Given the description of an element on the screen output the (x, y) to click on. 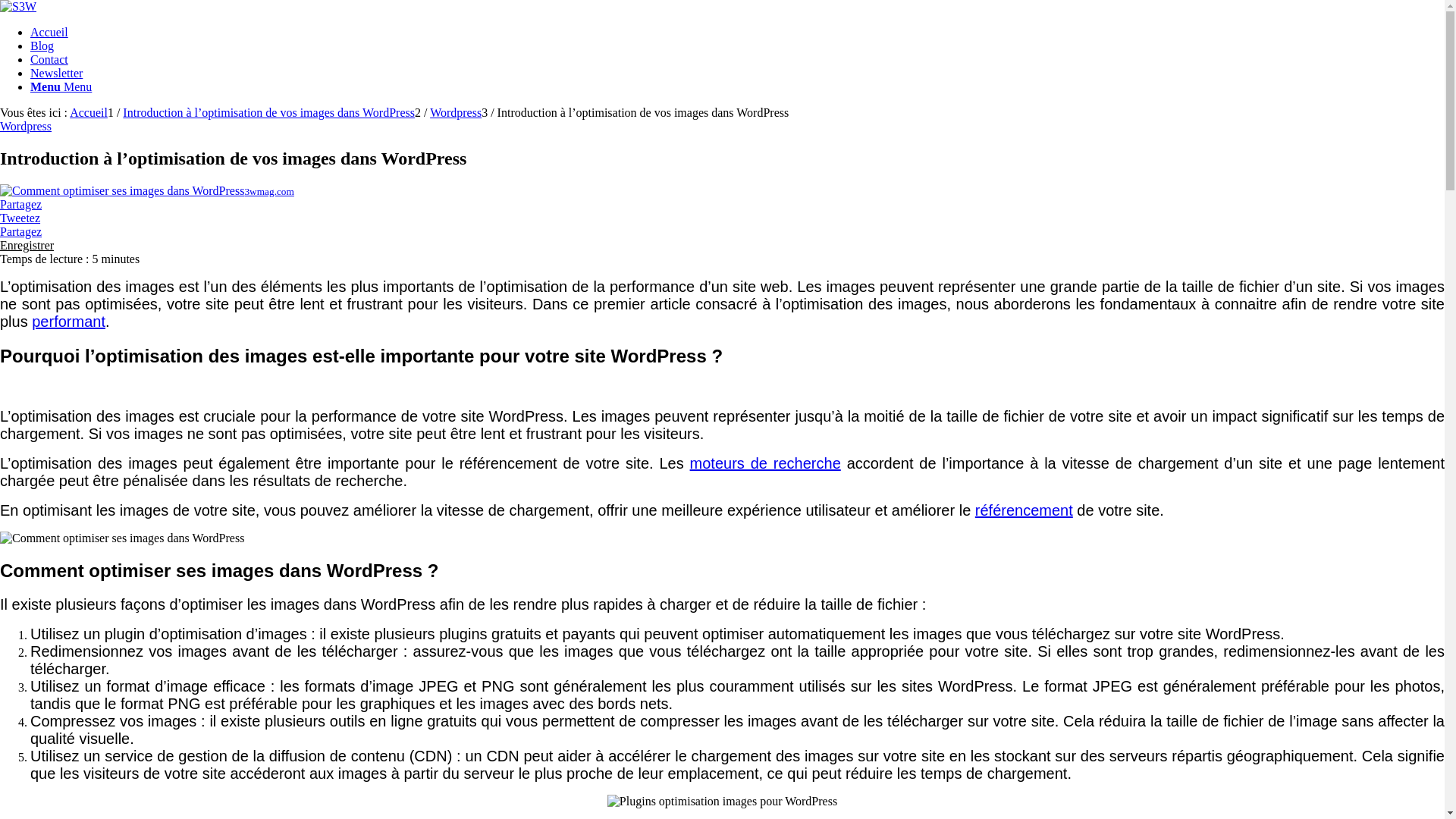
s3w Element type: hover (18, 6)
performant Element type: text (68, 321)
Enregistrer Element type: text (26, 244)
Contact Element type: text (49, 59)
Accueil Element type: text (49, 31)
Blog Element type: text (41, 45)
Partagez Element type: text (20, 231)
moteurs de recherche Element type: text (765, 463)
Plugins d'optimisation de vos images pour WordPress Element type: hover (722, 801)
Menu Menu Element type: text (60, 86)
Newsletter Element type: text (56, 72)
Partagez Element type: text (20, 203)
s3w Element type: hover (18, 6)
3wmag.com Element type: text (147, 190)
Accueil Element type: text (88, 112)
Tweetez Element type: text (20, 217)
Wordpress Element type: text (25, 125)
Wordpress Element type: text (455, 112)
Comment optimiser ses images dans WordPress Element type: hover (122, 538)
